Given the description of an element on the screen output the (x, y) to click on. 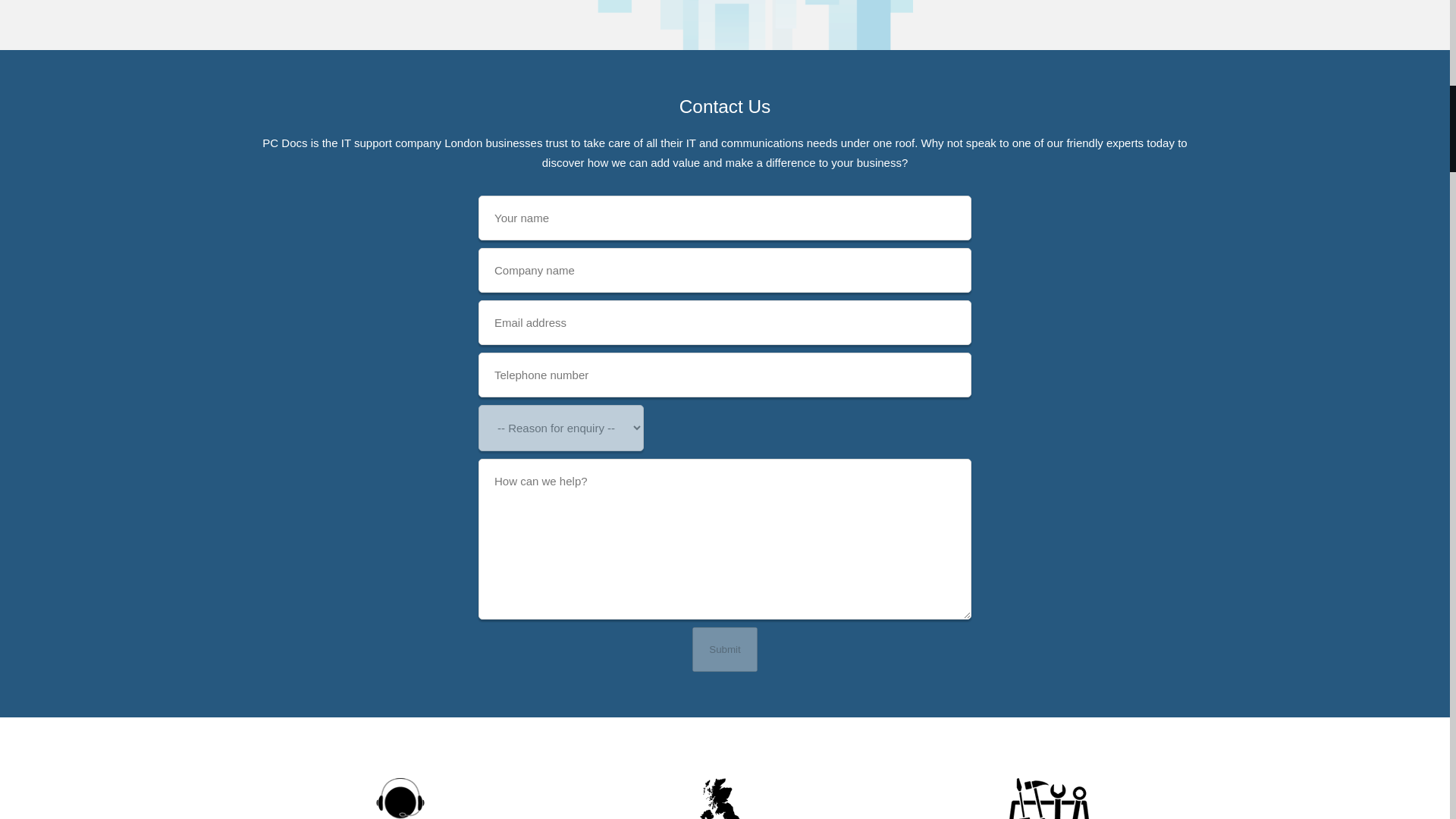
Submit (725, 649)
